Given the description of an element on the screen output the (x, y) to click on. 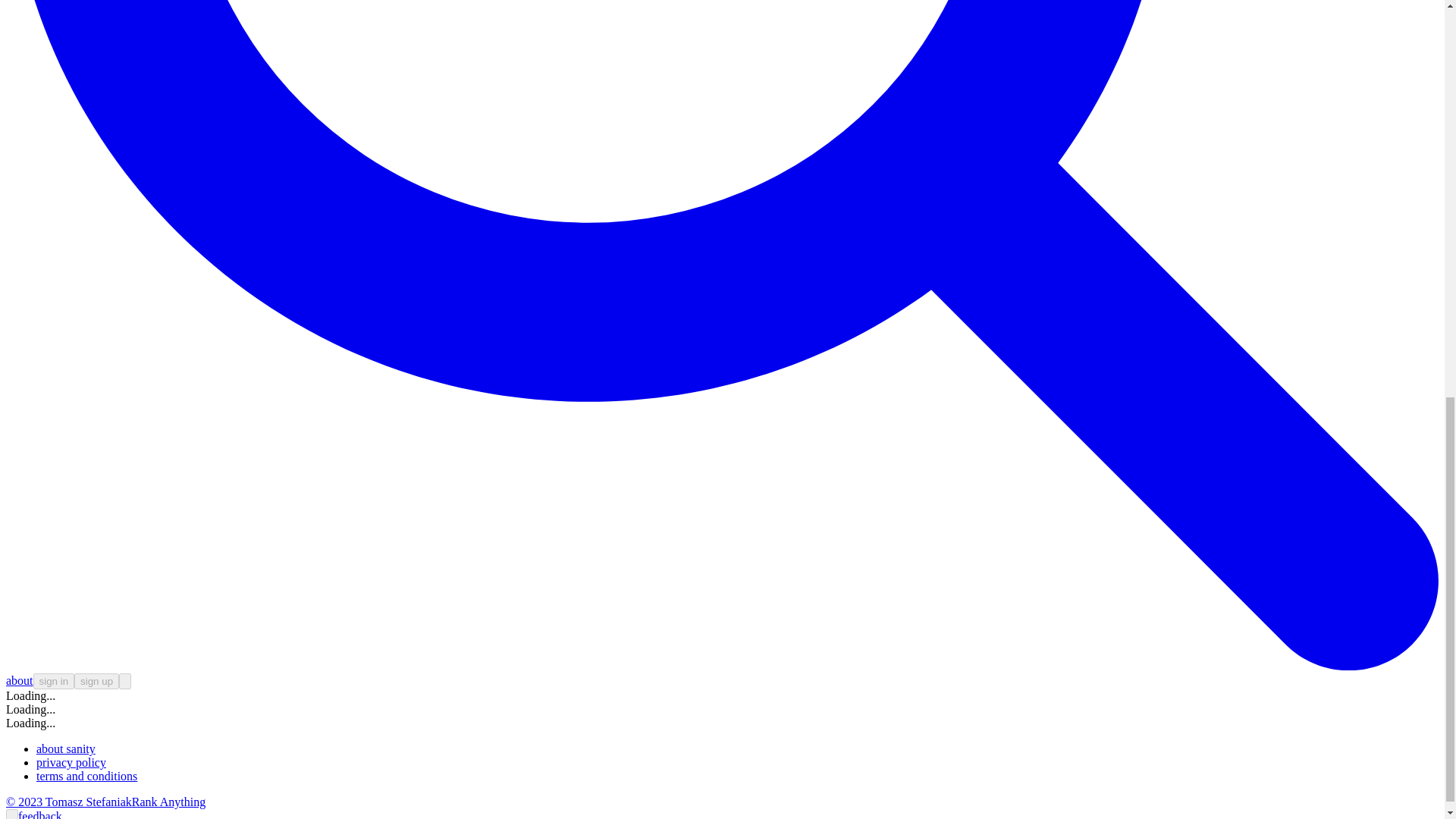
sign in (54, 681)
terms and conditions (86, 775)
sign up (96, 681)
privacy policy (71, 762)
Rank Anything (168, 801)
about sanity (66, 748)
about (19, 680)
